Given the description of an element on the screen output the (x, y) to click on. 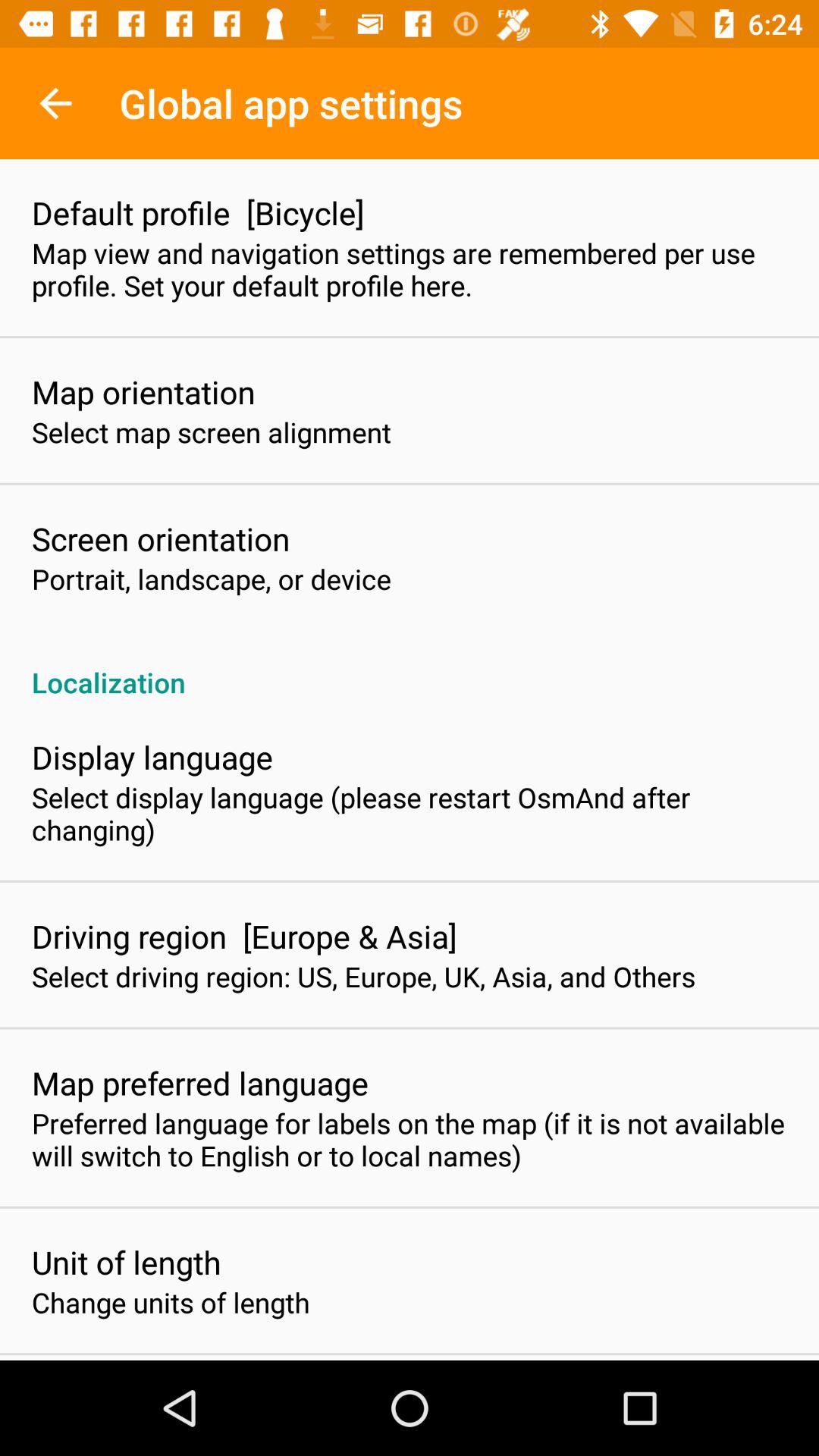
swipe until the portrait landscape or icon (211, 578)
